Given the description of an element on the screen output the (x, y) to click on. 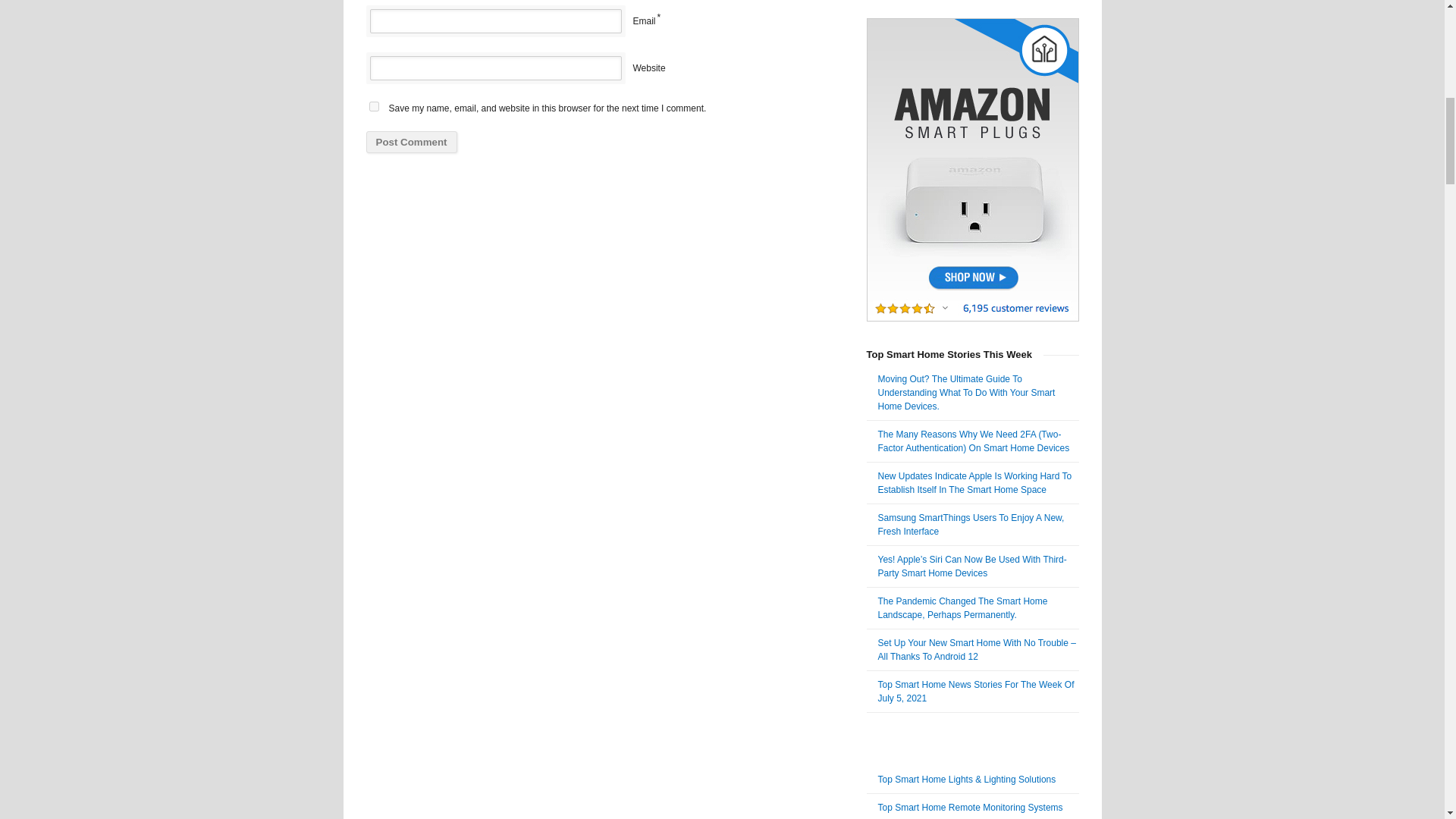
Post Comment (411, 141)
Top Smart Home News Stories For The Week Of July 5, 2021 (975, 691)
yes (373, 106)
Samsung SmartThings Users To Enjoy A New, Fresh Interface (970, 524)
Post Comment (411, 141)
Top Smart Home Remote Monitoring Systems (969, 807)
